Given the description of an element on the screen output the (x, y) to click on. 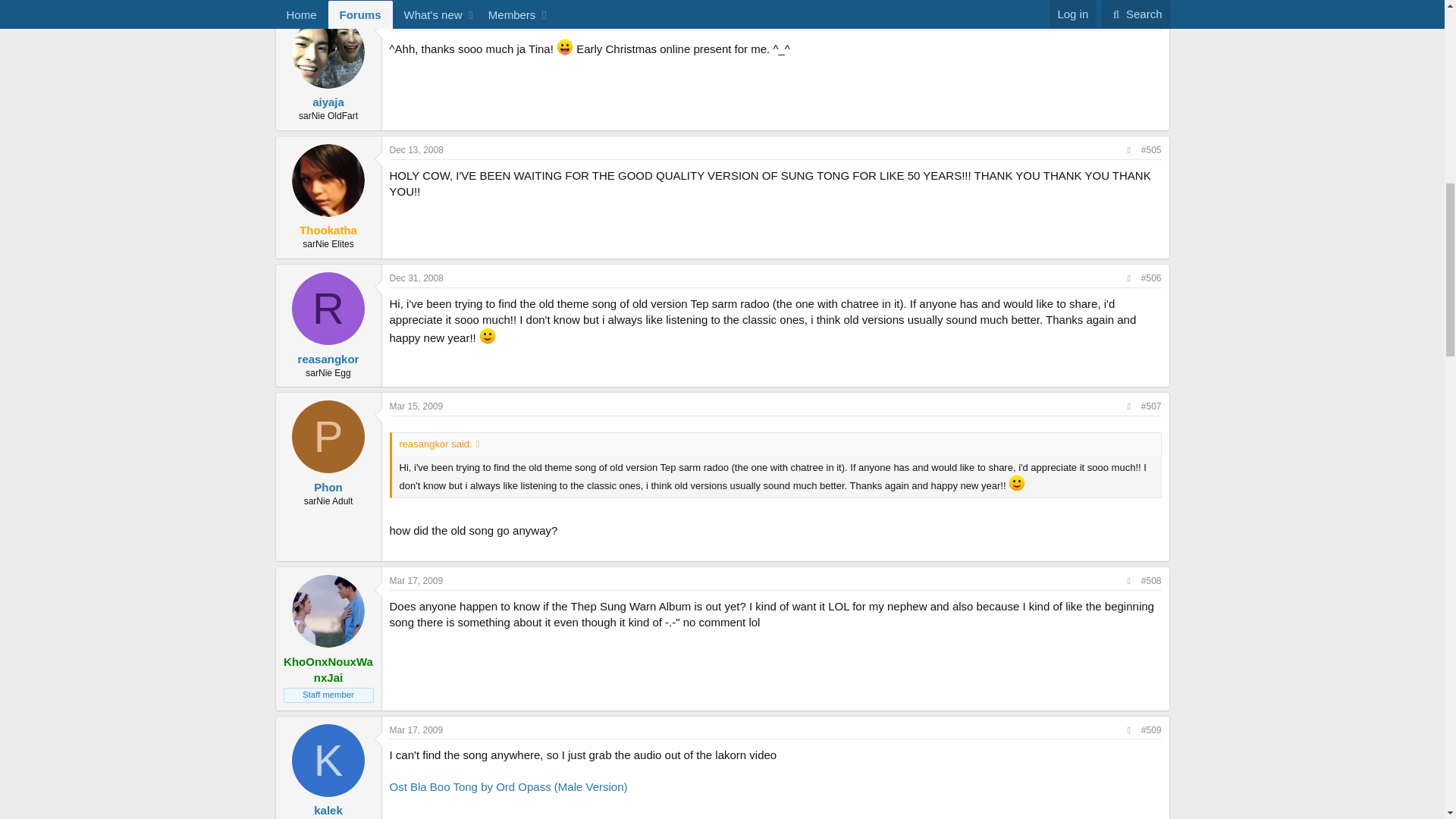
Dec 31, 2008 at 6:45 AM (417, 277)
Dec 13, 2008 at 11:53 PM (417, 149)
Dec 12, 2008 at 8:53 AM (417, 21)
Mar 15, 2009 at 12:56 PM (417, 406)
Stick Out Tongue    :p (564, 46)
